Given the description of an element on the screen output the (x, y) to click on. 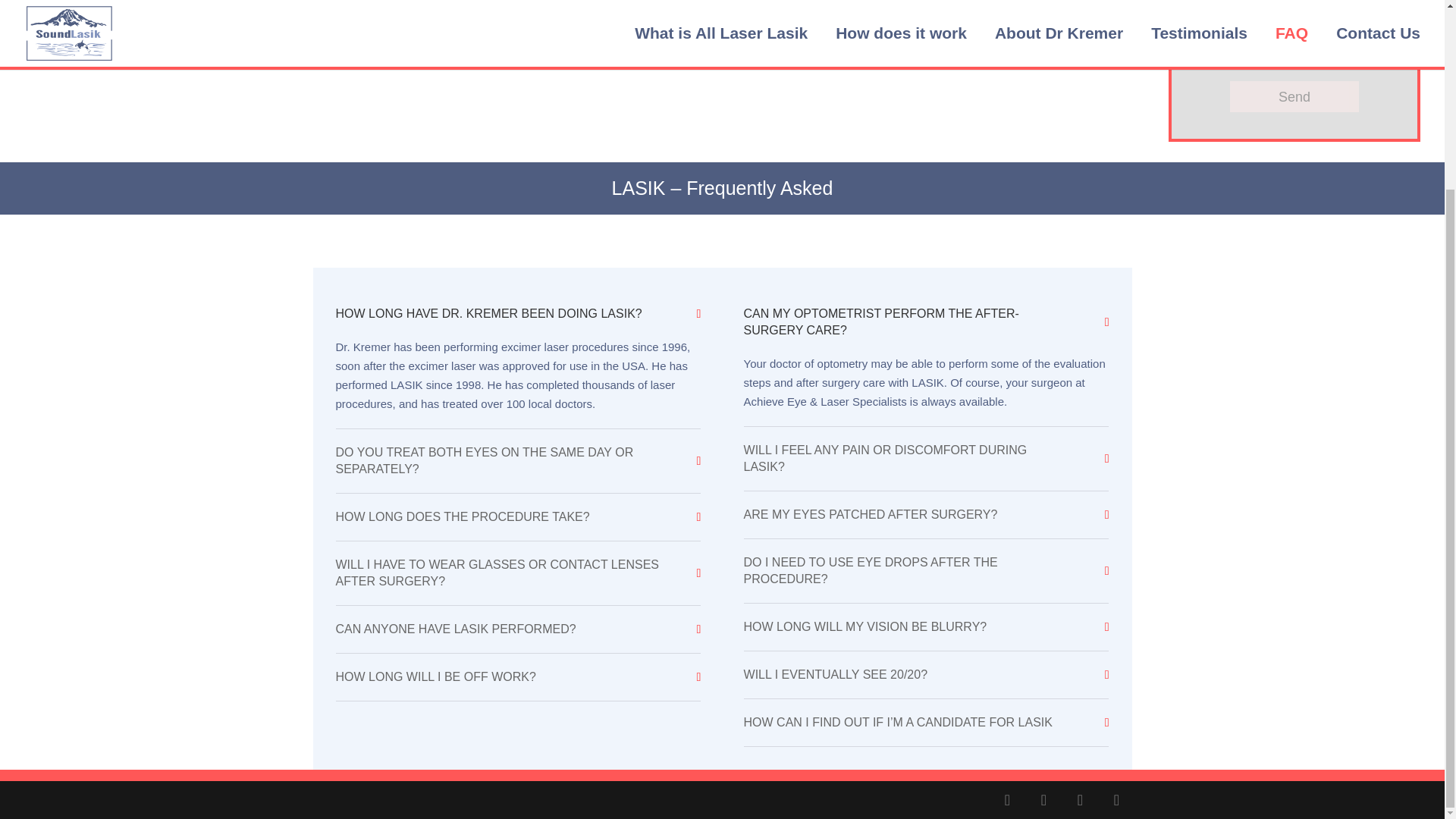
Send (1294, 96)
Follow on Twitter (1079, 799)
Follow on LinkedIn (1042, 799)
Follow on Instagram (1115, 799)
Follow on Facebook (1006, 799)
